Given the description of an element on the screen output the (x, y) to click on. 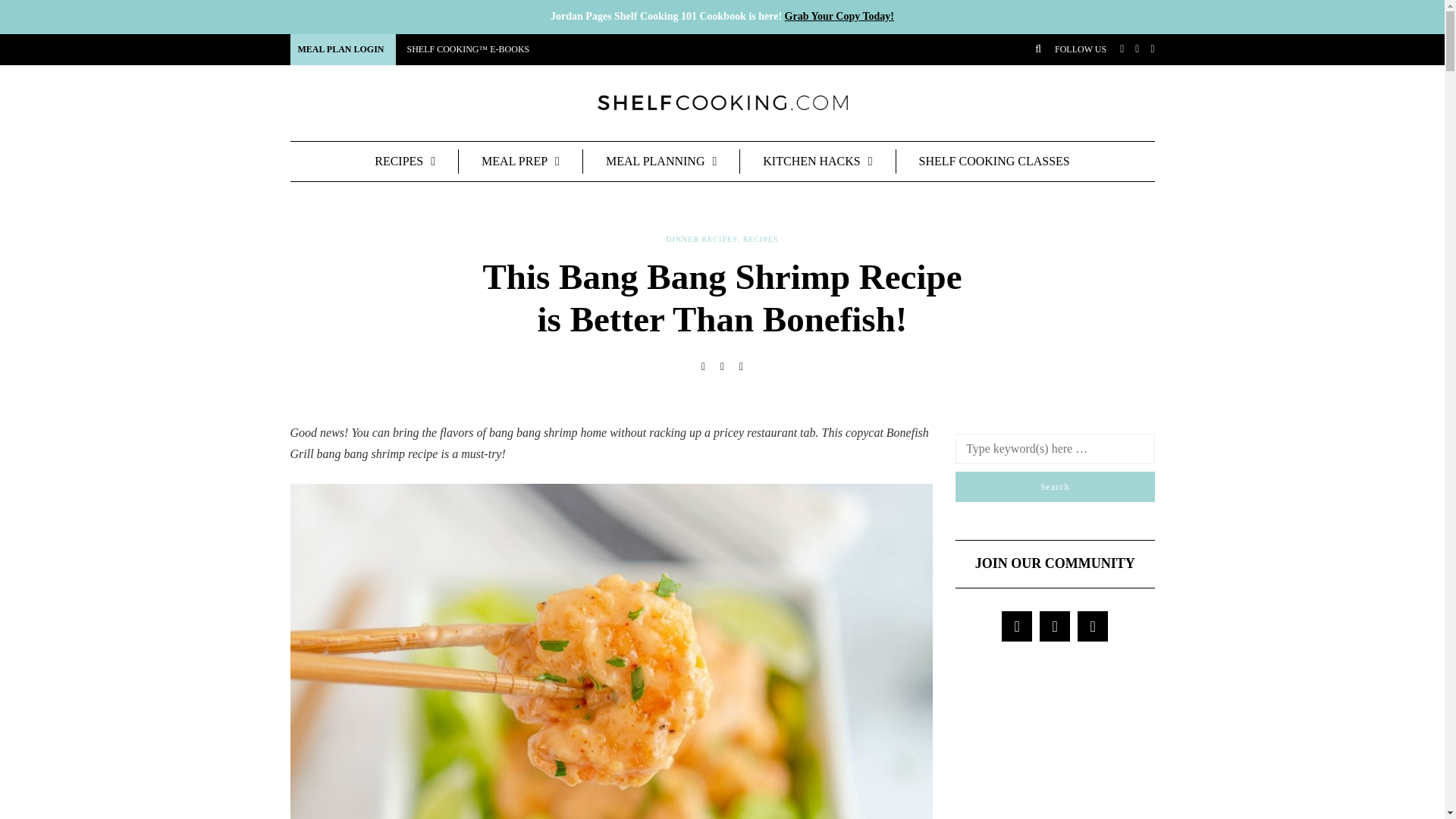
Search (1054, 486)
Tweet this (722, 366)
Pin this (741, 366)
RECIPES (405, 160)
DINNER RECIPES (700, 239)
MEAL PLAN LOGIN (341, 48)
Share with Facebook (703, 366)
MEAL PREP (520, 160)
RECIPES (760, 239)
SHELF COOKING CLASSES (994, 160)
